Given the description of an element on the screen output the (x, y) to click on. 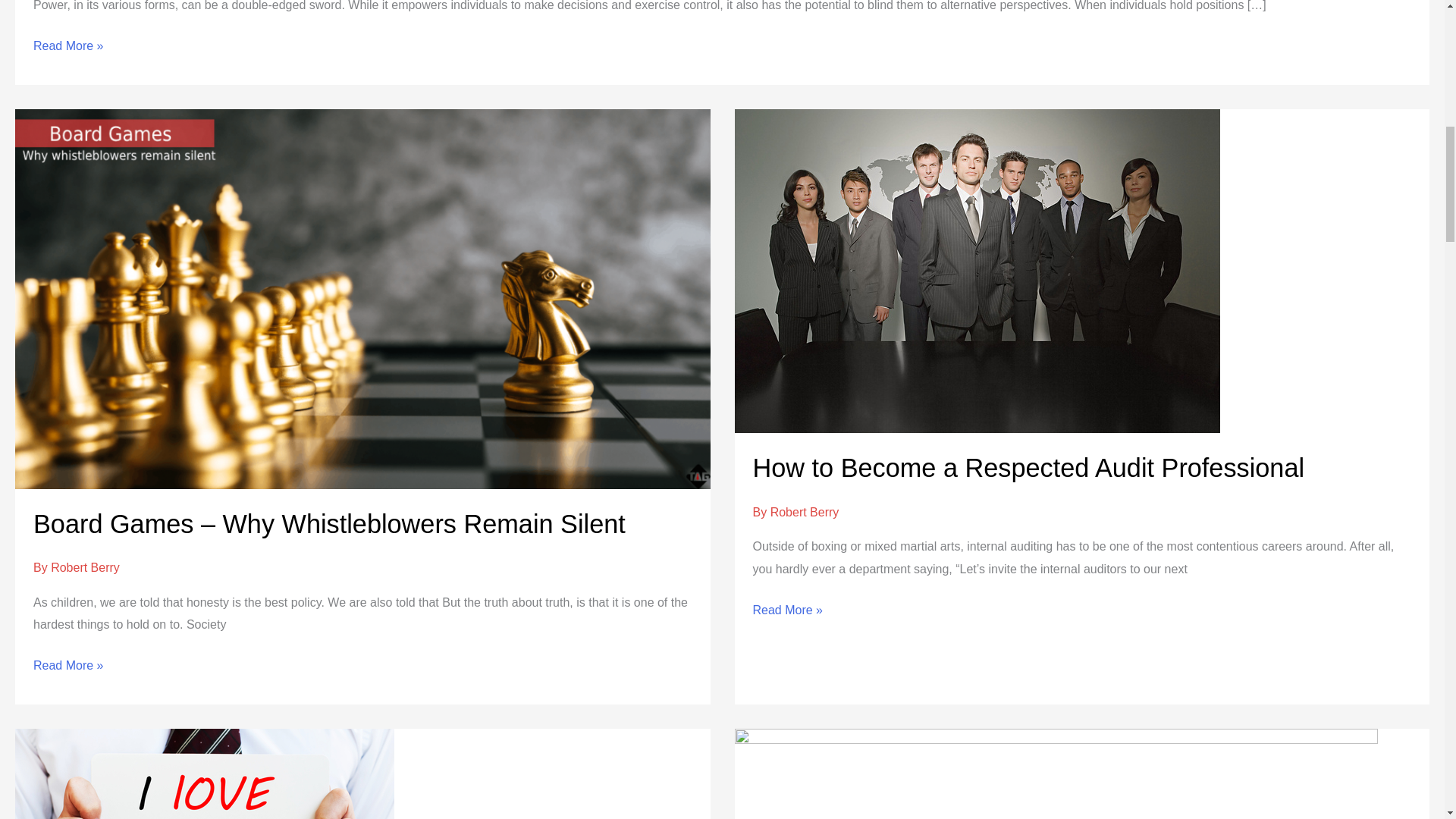
Robert Berry (805, 512)
View all posts by Robert Berry (84, 567)
How to Become a Respected Audit Professional (1028, 467)
Robert Berry (84, 567)
View all posts by Robert Berry (805, 512)
